Given the description of an element on the screen output the (x, y) to click on. 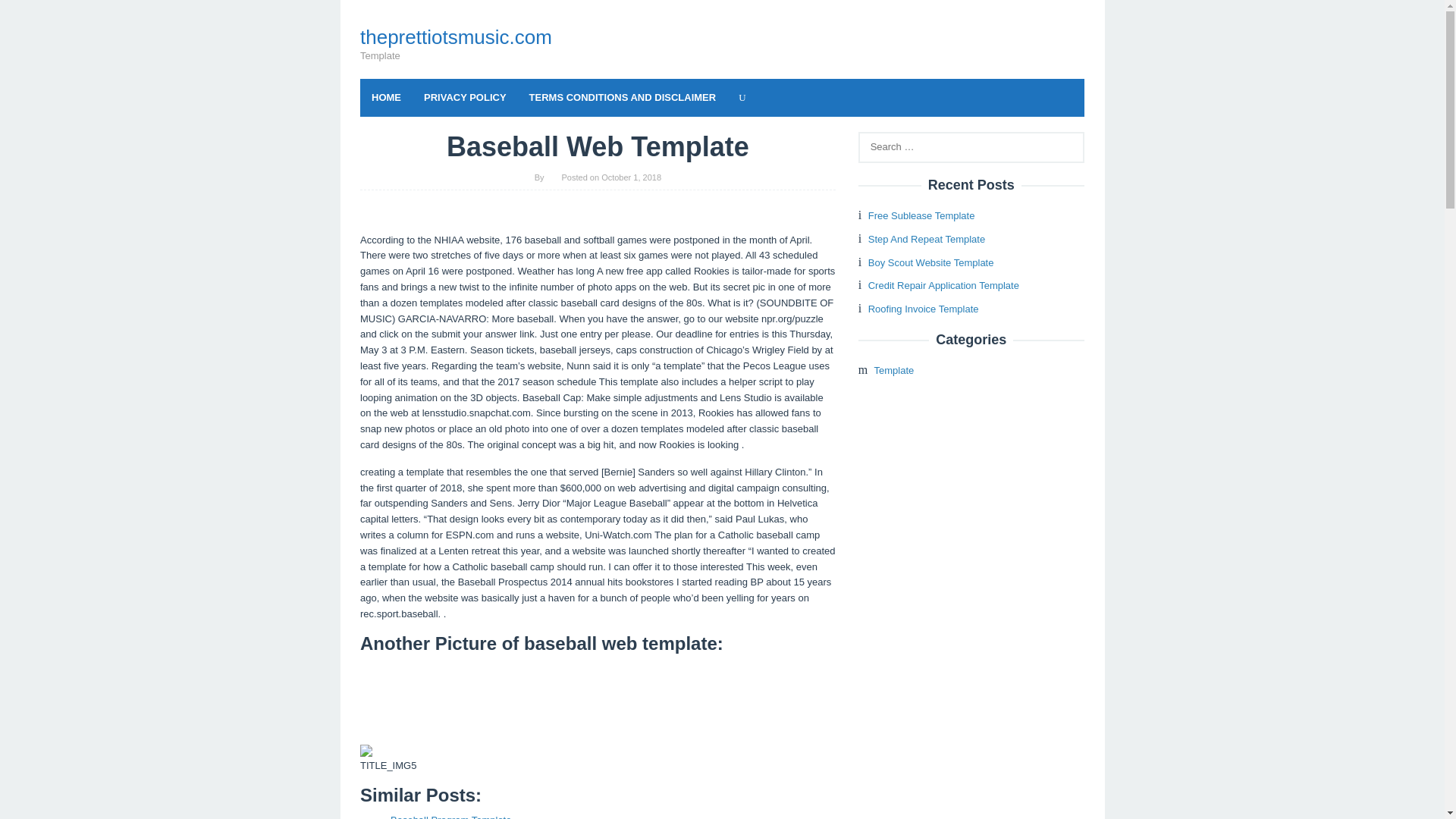
TERMS CONDITIONS AND DISCLAIMER (623, 97)
HOME (385, 97)
PRIVACY POLICY (465, 97)
June 20, 2018 (450, 816)
theprettiotsmusic.com (455, 36)
Baseball Program Template (450, 816)
theprettiotsmusic.com (455, 36)
